Given the description of an element on the screen output the (x, y) to click on. 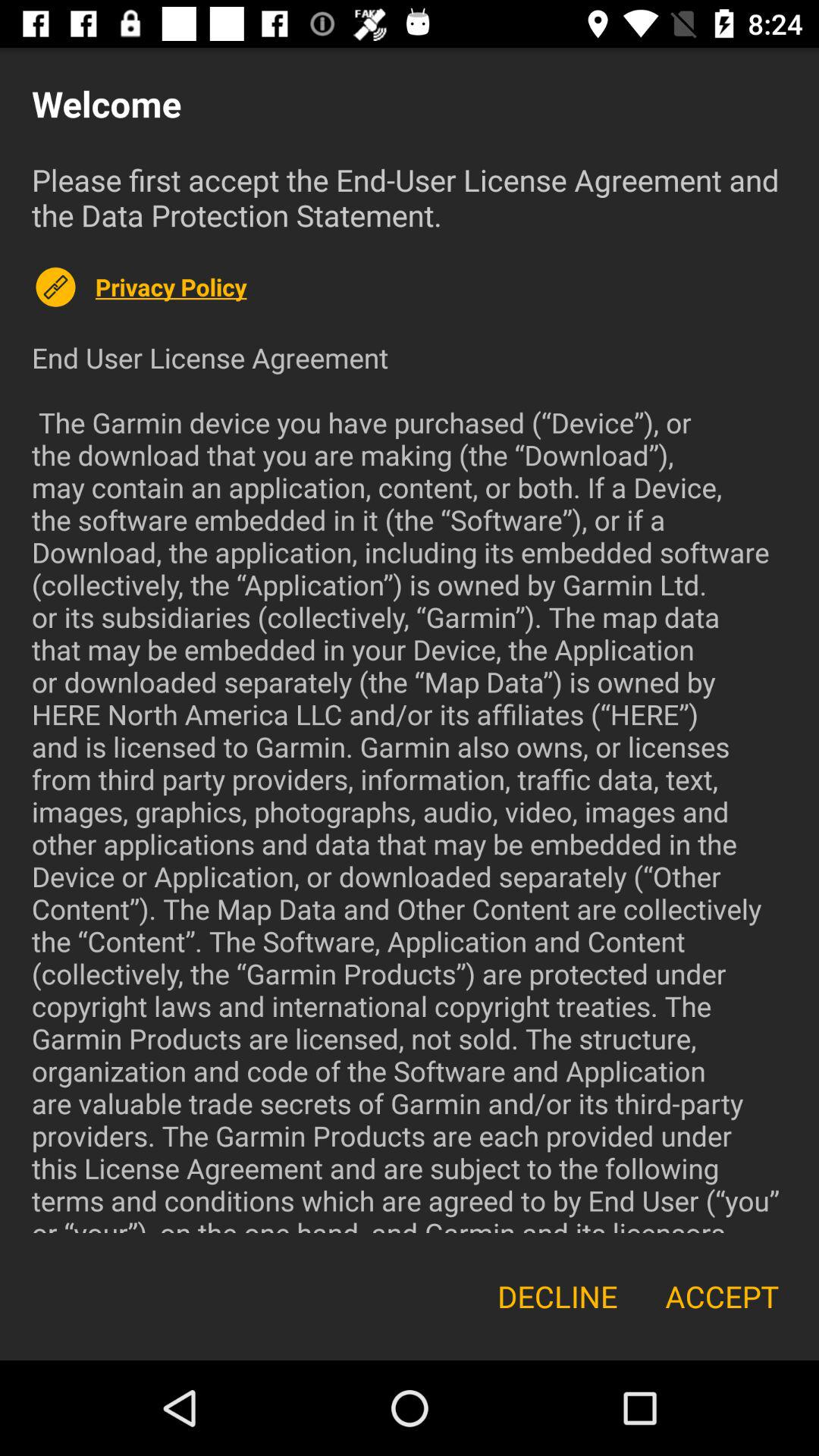
turn on the icon next to accept (557, 1296)
